Given the description of an element on the screen output the (x, y) to click on. 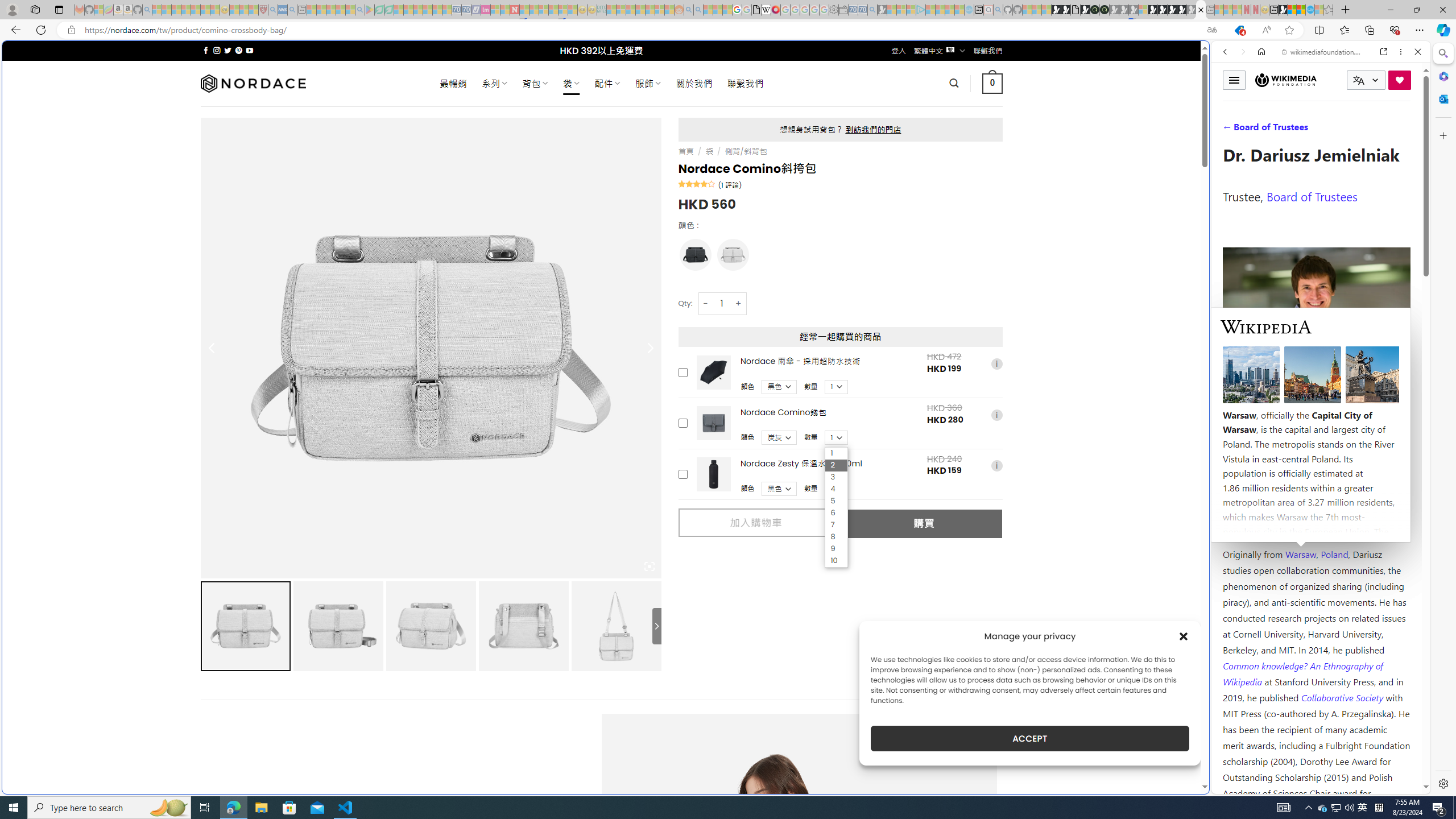
- (705, 303)
